Given the description of an element on the screen output the (x, y) to click on. 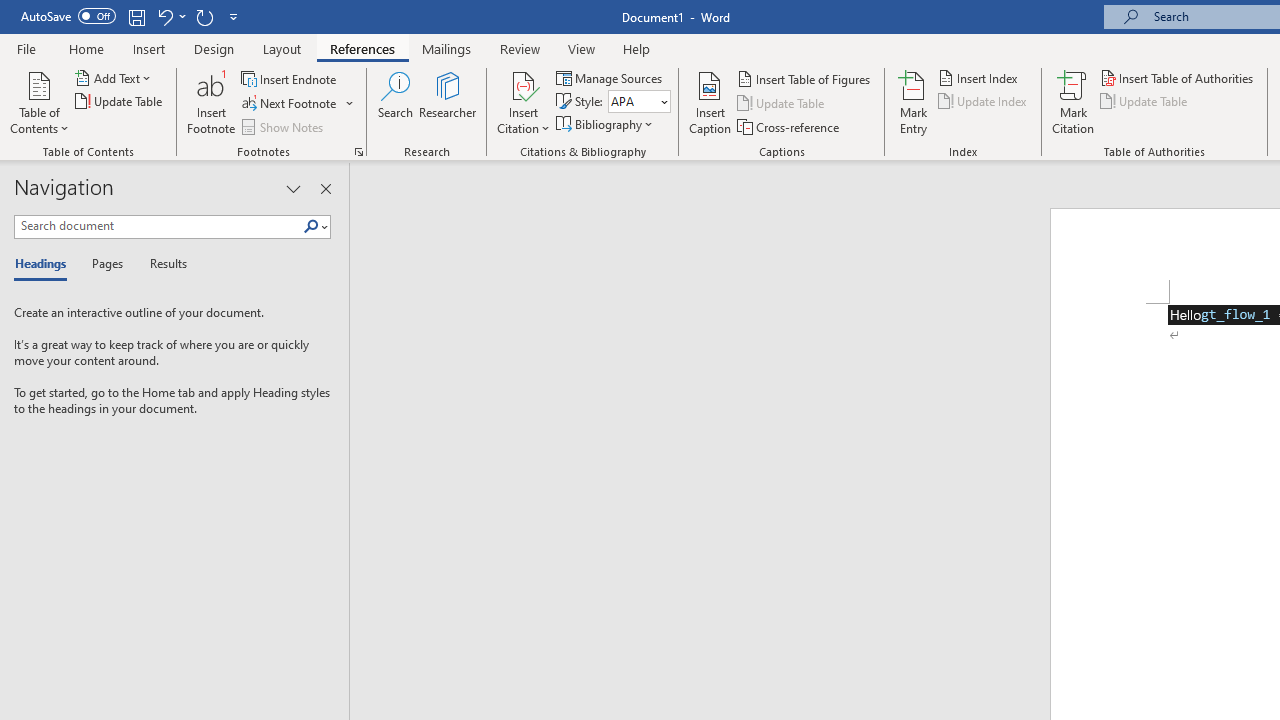
Show Notes (284, 126)
Style (632, 101)
Pages (105, 264)
Insert Caption... (710, 102)
Insert Table of Authorities... (1177, 78)
Update Index (984, 101)
Next Footnote (298, 103)
Search document (157, 226)
